Given the description of an element on the screen output the (x, y) to click on. 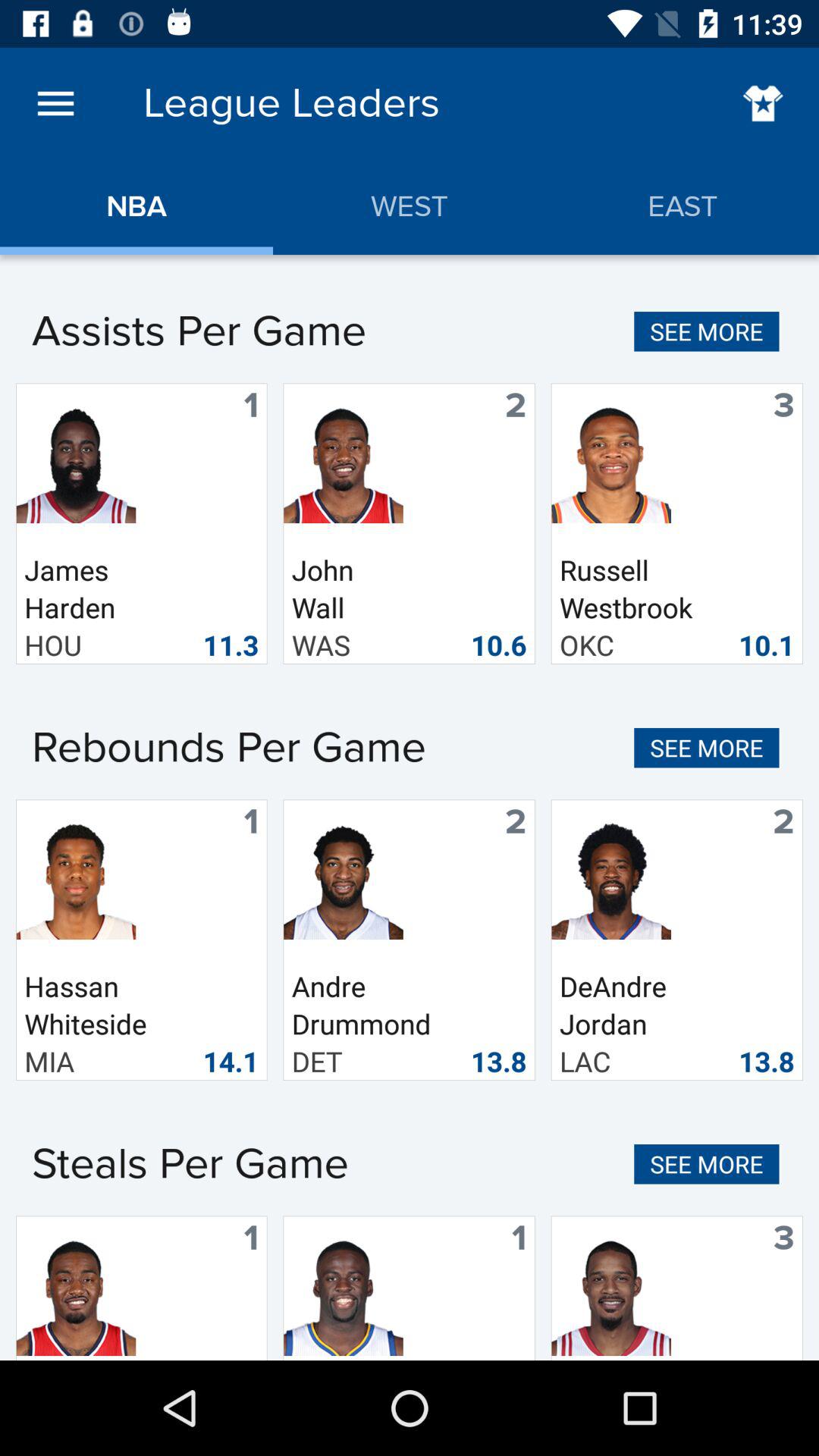
select the bottom left image (75, 1287)
click on the see more  which is beside the steals per game (706, 1164)
select  the first person picture in assists per game (75, 463)
